Given the description of an element on the screen output the (x, y) to click on. 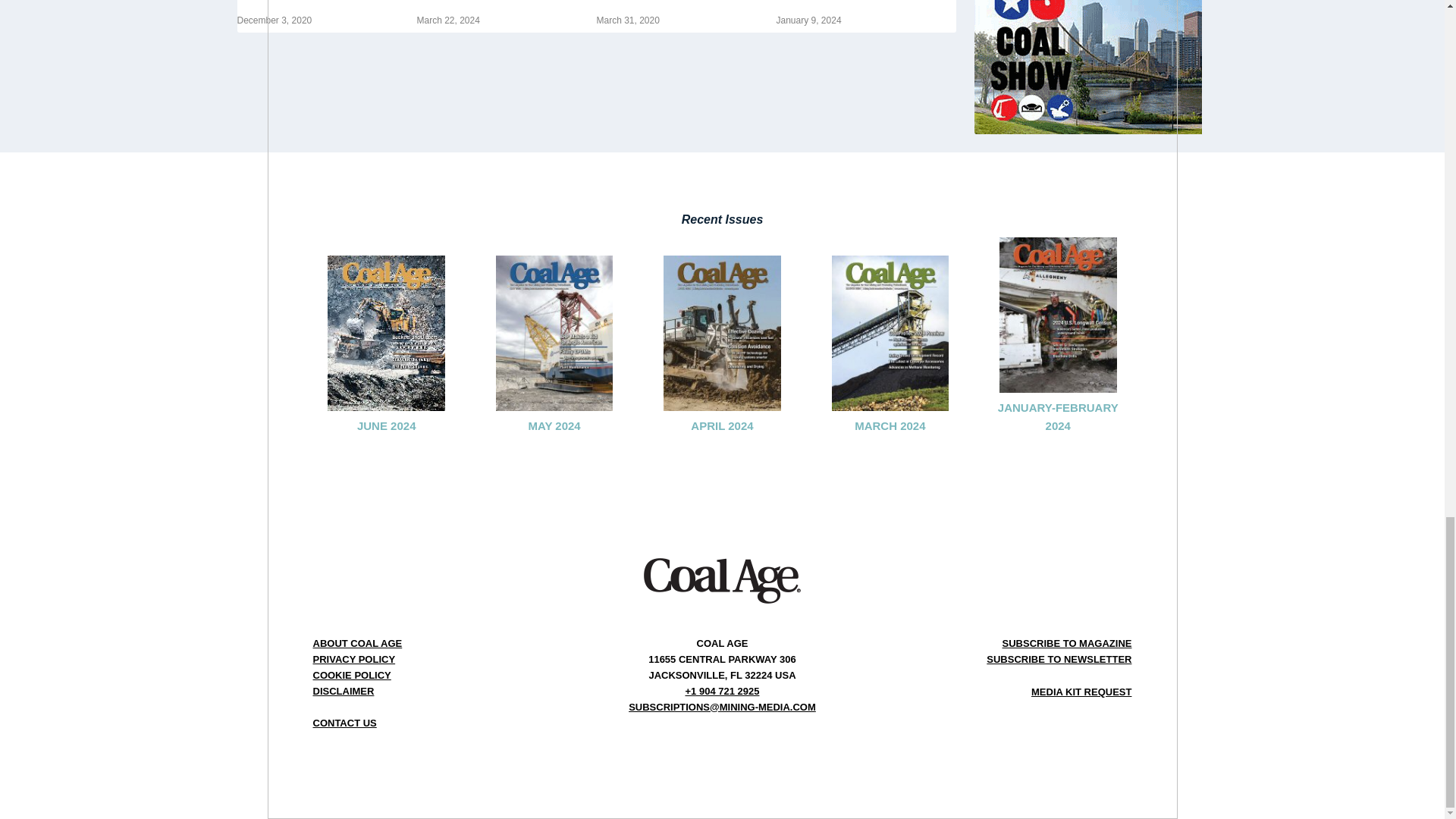
Coal Age logo (722, 580)
